Given the description of an element on the screen output the (x, y) to click on. 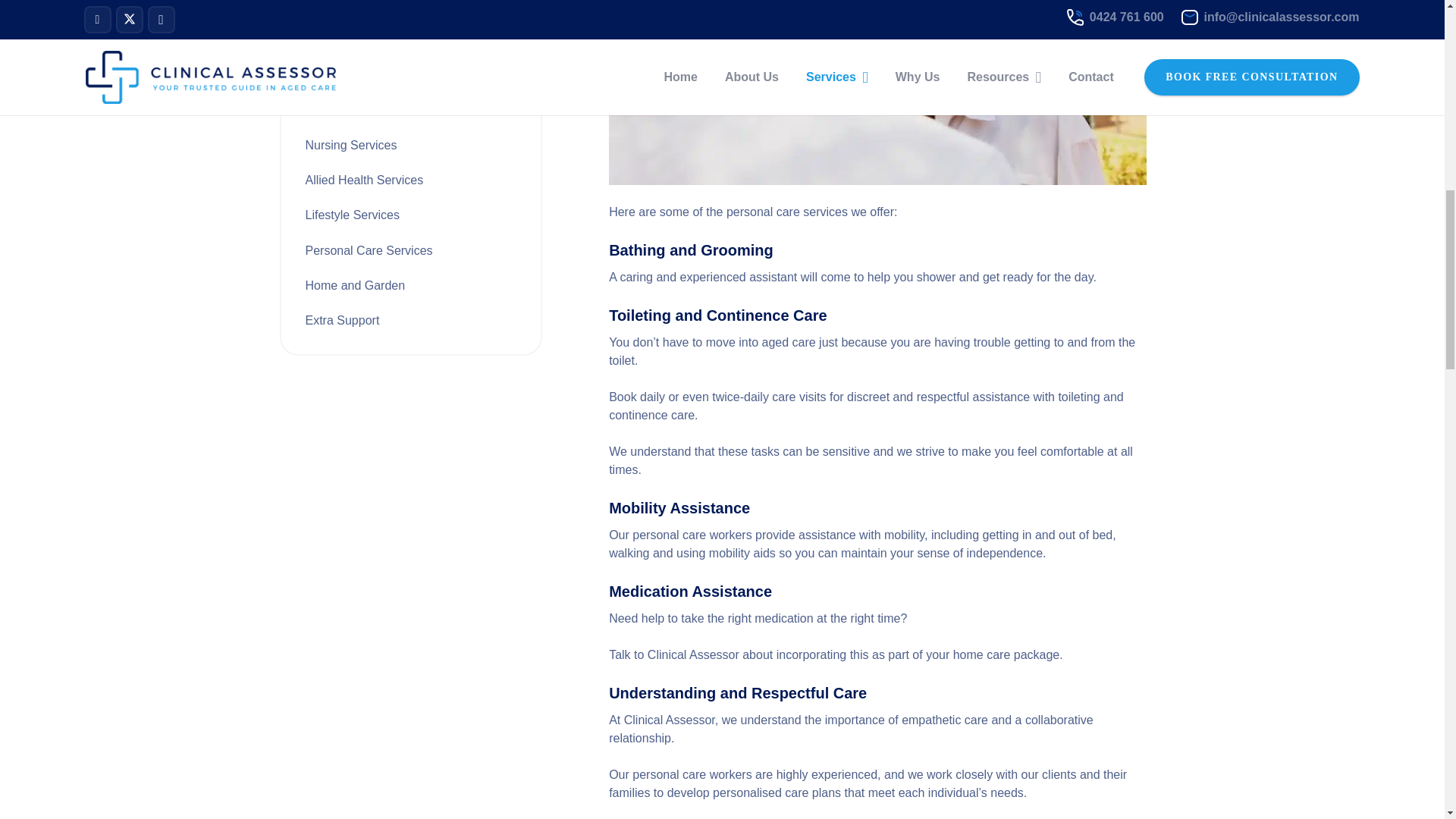
Extra Support (341, 319)
Allied Health Services (363, 179)
Lifestyle Services (351, 214)
Back to top (30, 26)
Home and Garden (354, 285)
Personal Care Services (368, 250)
Nursing Services (350, 144)
